Given the description of an element on the screen output the (x, y) to click on. 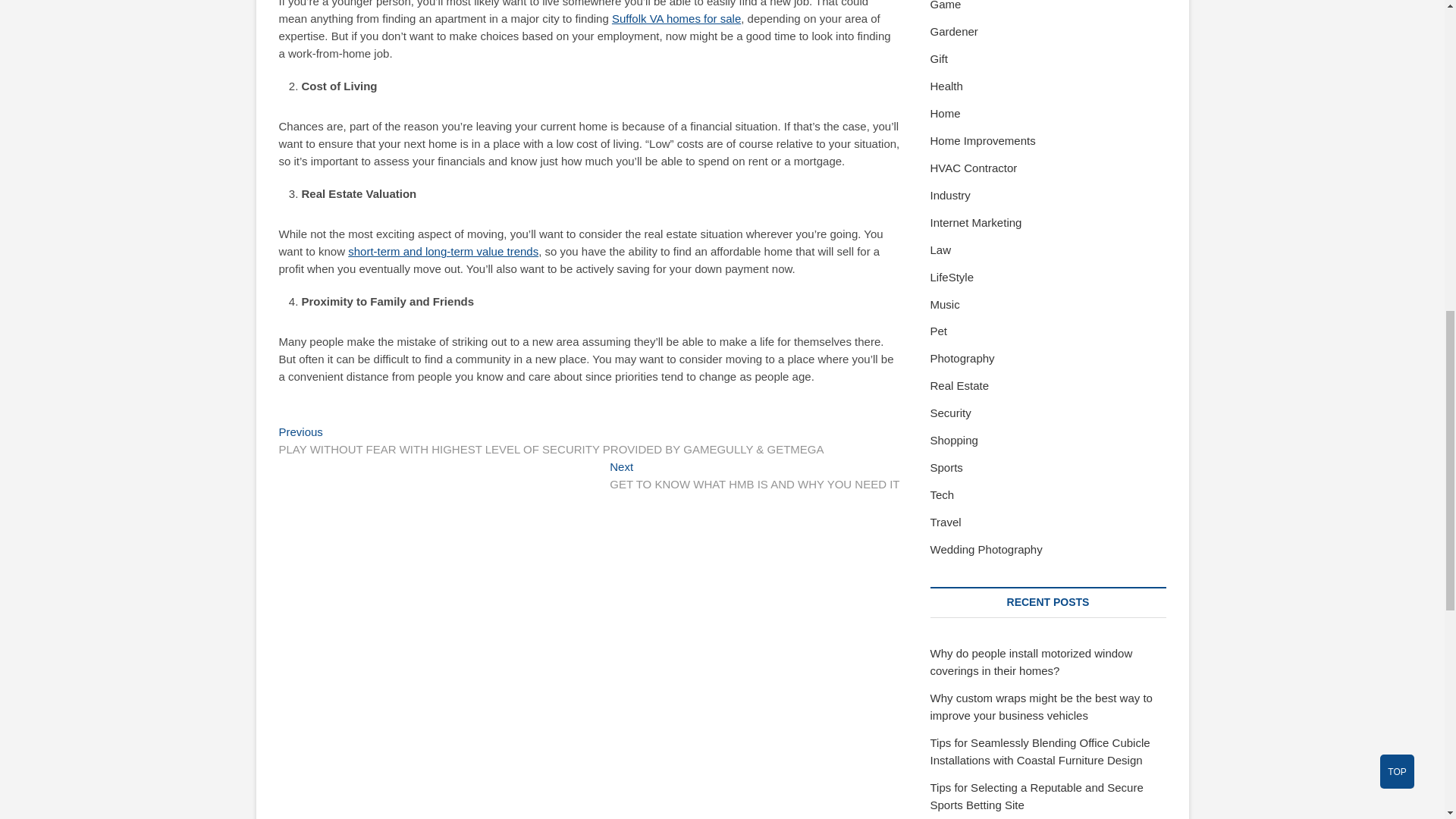
Suffolk VA homes for sale (754, 476)
short-term and long-term value trends (676, 18)
